Given the description of an element on the screen output the (x, y) to click on. 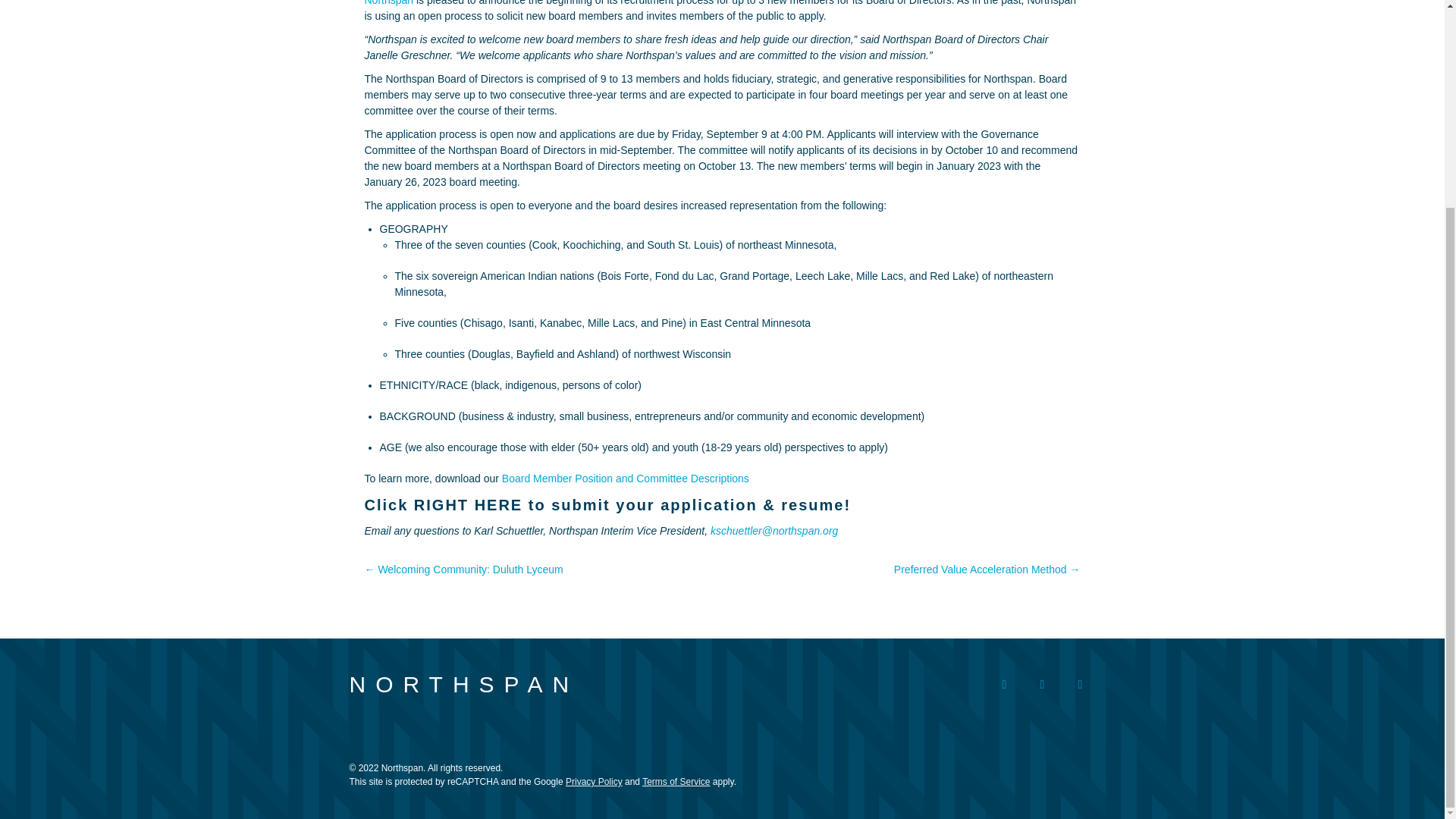
Twitter (1041, 684)
Linked In (1079, 684)
NORTHSPAN (463, 683)
Northspan (388, 2)
Facebook (1003, 684)
RIGHT HERE (467, 504)
Terms of Service (676, 781)
Board Member Position and Committee Descriptions (625, 478)
NORTHSPAN (463, 683)
Privacy Policy (594, 781)
